Given the description of an element on the screen output the (x, y) to click on. 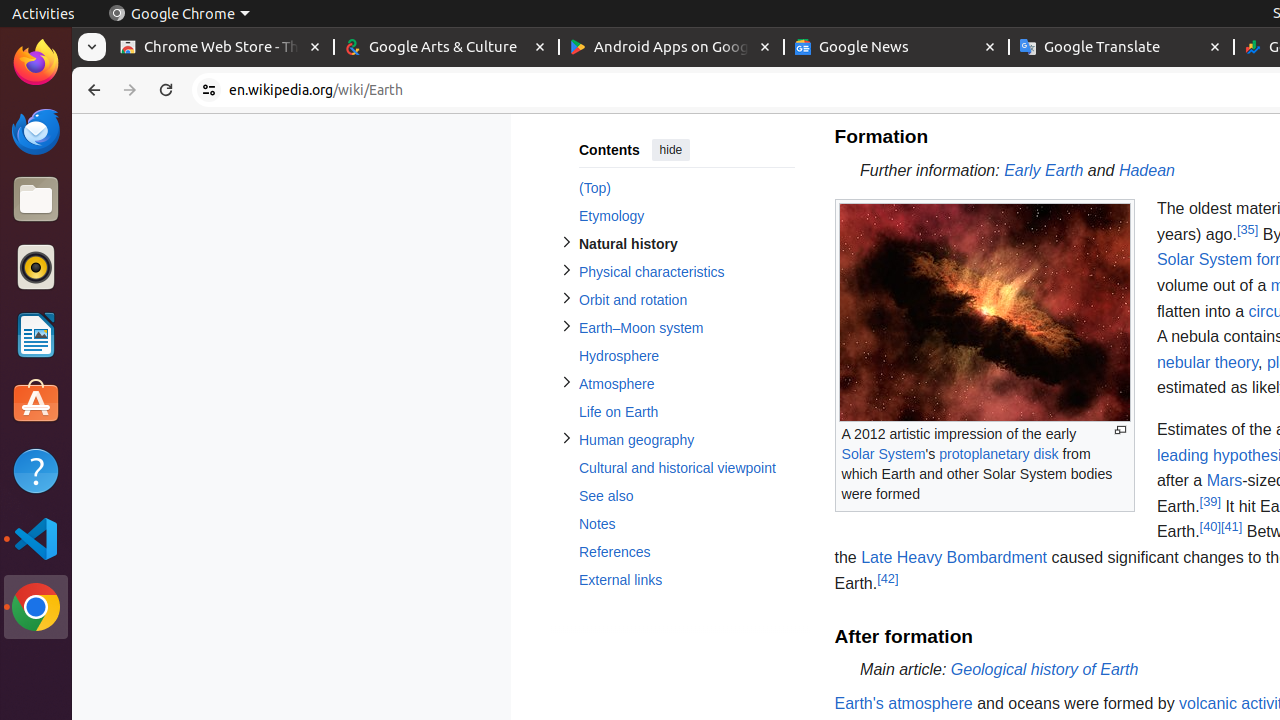
Reload Element type: push-button (166, 90)
Human geography Element type: link (686, 440)
Toggle Earth–Moon system subsection Element type: push-button (566, 326)
Rhythmbox Element type: push-button (36, 267)
Earth's atmosphere Element type: link (903, 703)
